Given the description of an element on the screen output the (x, y) to click on. 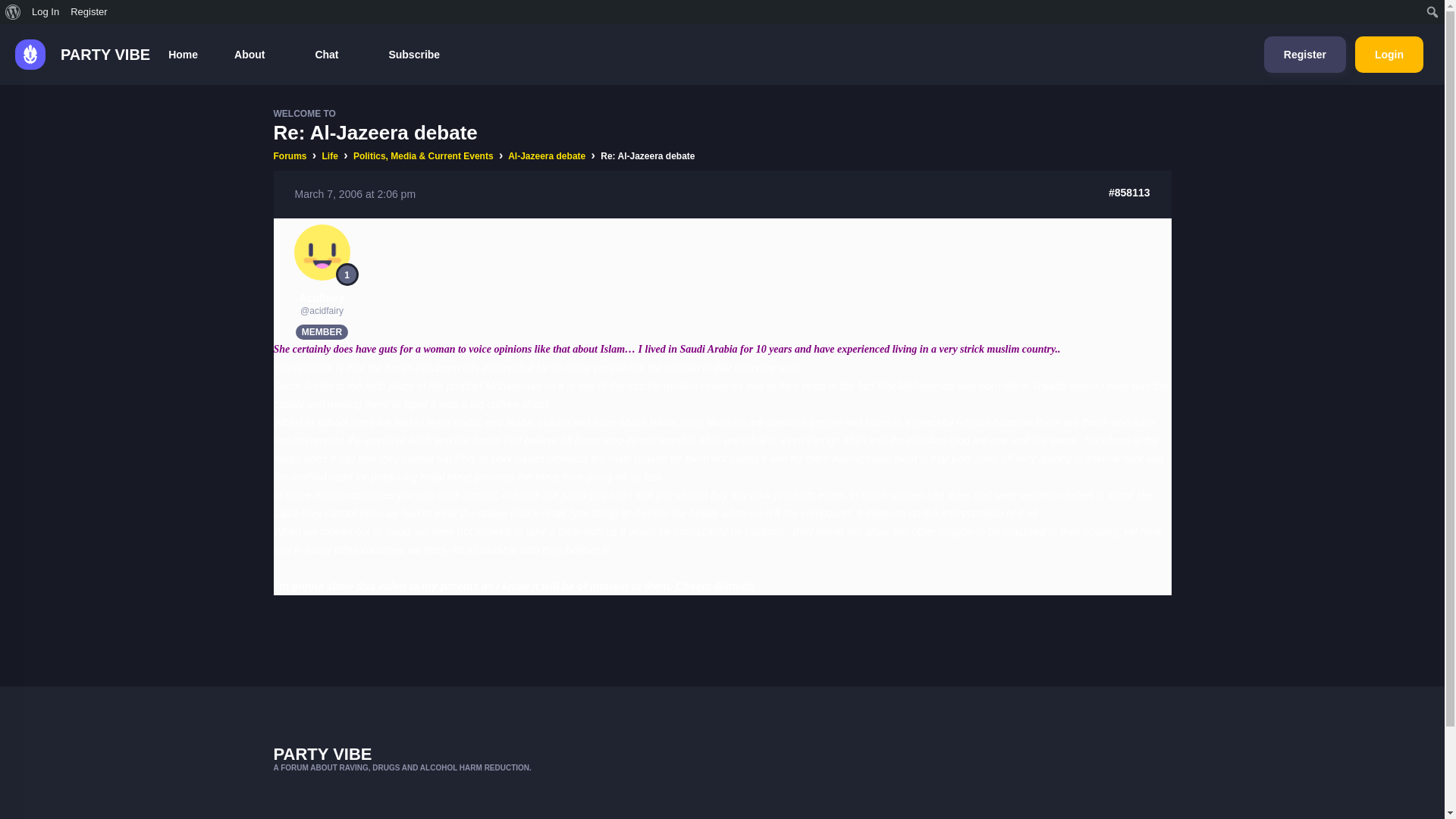
PARTY VIBE (74, 54)
Register (89, 12)
Chat (333, 54)
Search (15, 12)
Log In (45, 12)
About (256, 54)
Home (182, 54)
